Given the description of an element on the screen output the (x, y) to click on. 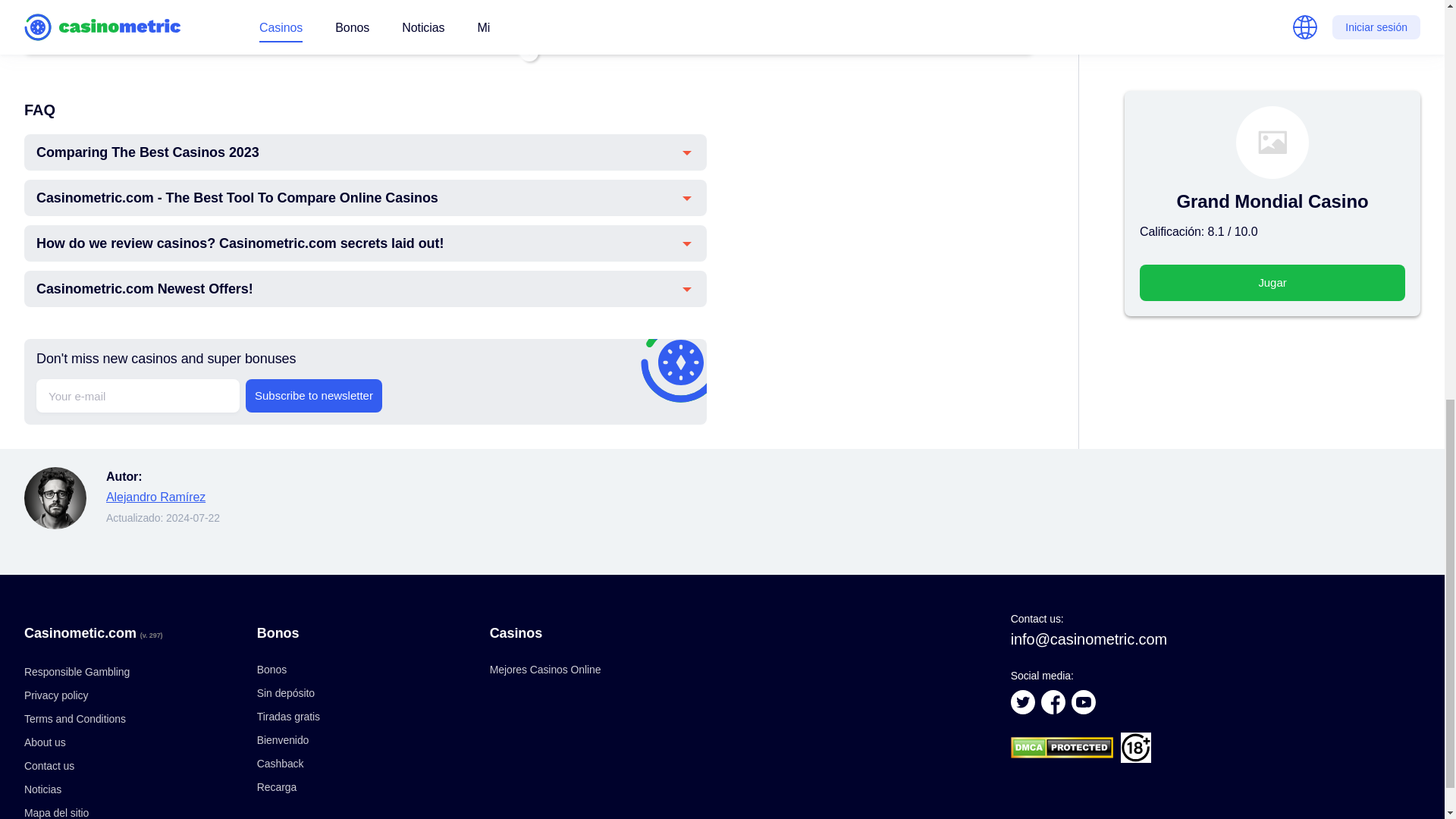
Terms and Conditions (74, 718)
Jugar (1272, 190)
Privacy policy (55, 695)
Responsible Gambling (76, 671)
Obtenga bonos (972, 26)
Subscribe to newsletter (313, 395)
